Given the description of an element on the screen output the (x, y) to click on. 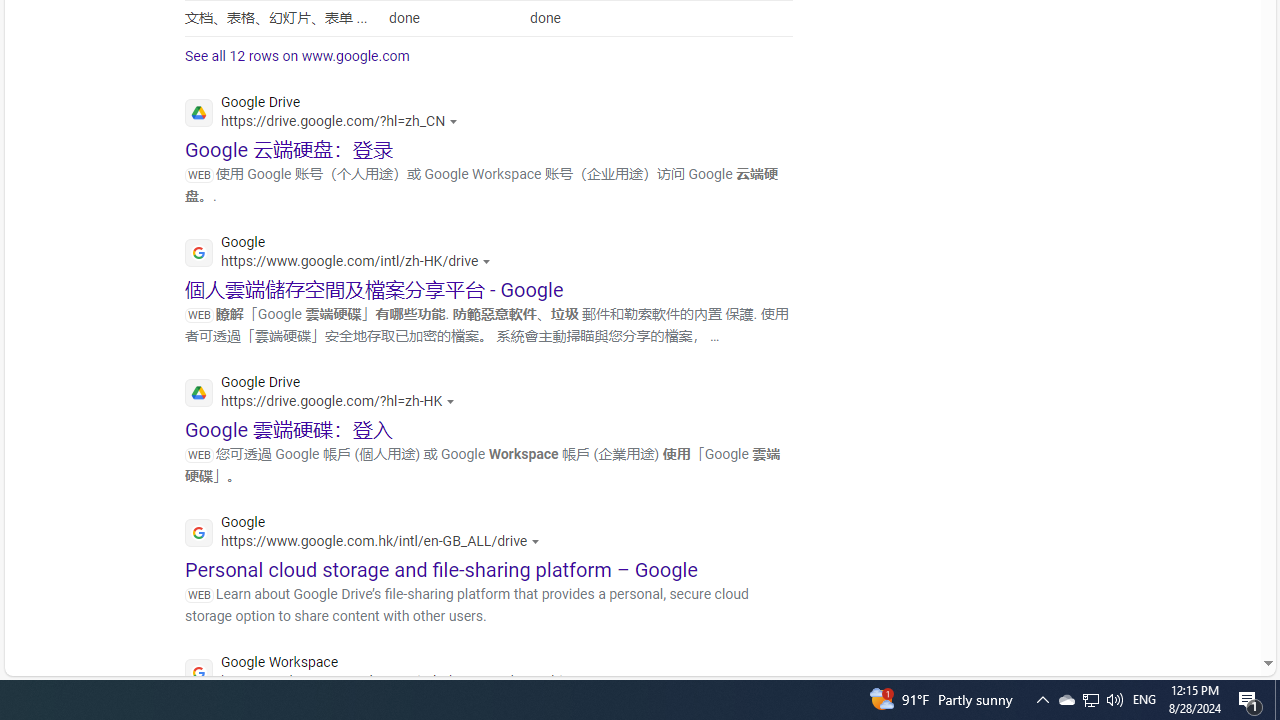
Global web icon (198, 673)
AutomationID: mfa_root (1192, 603)
Google (367, 534)
Actions for this site (588, 681)
Google Workspace (392, 674)
Search more (1222, 604)
